Given the description of an element on the screen output the (x, y) to click on. 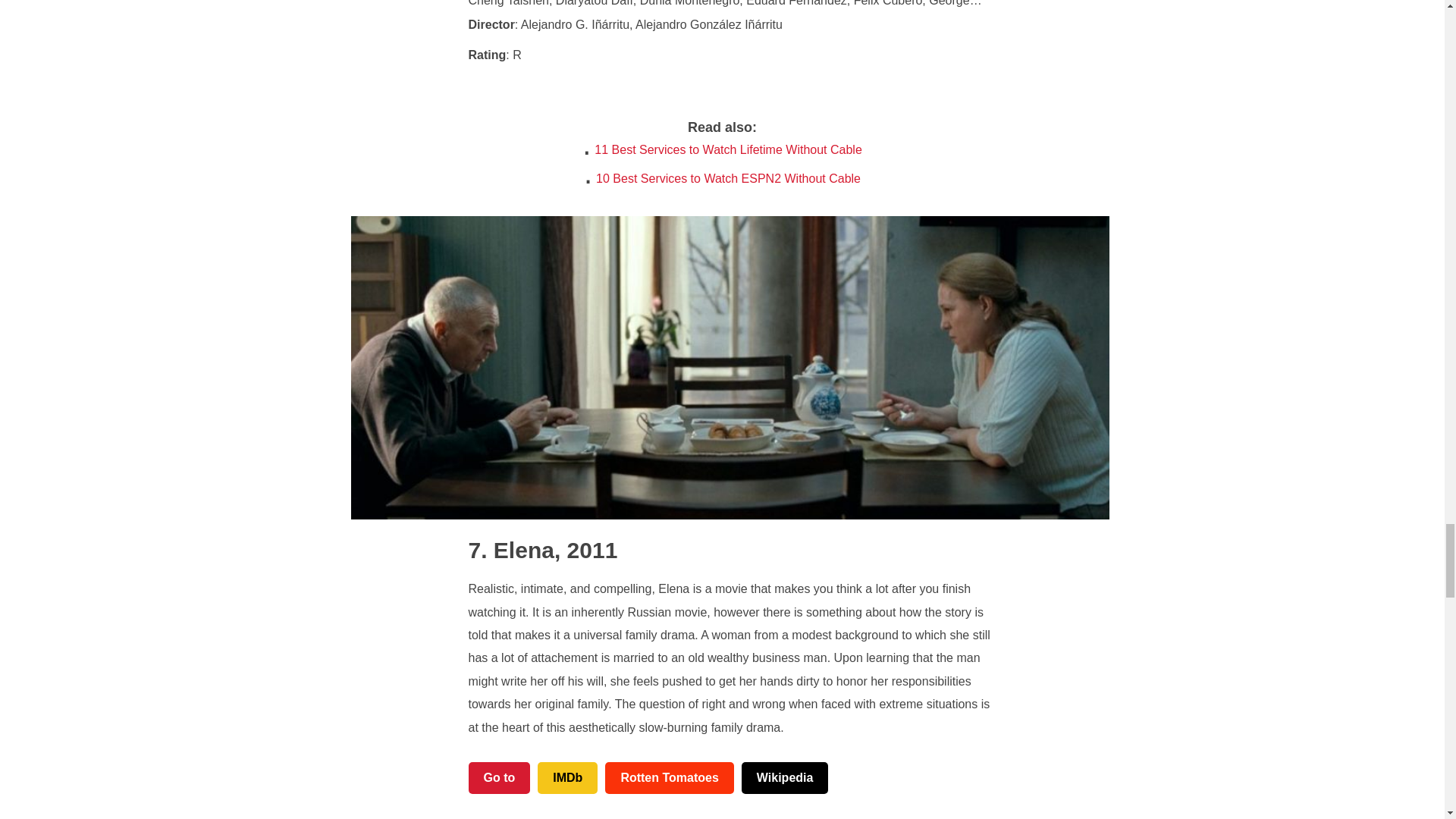
Elena (511, 549)
